Given the description of an element on the screen output the (x, y) to click on. 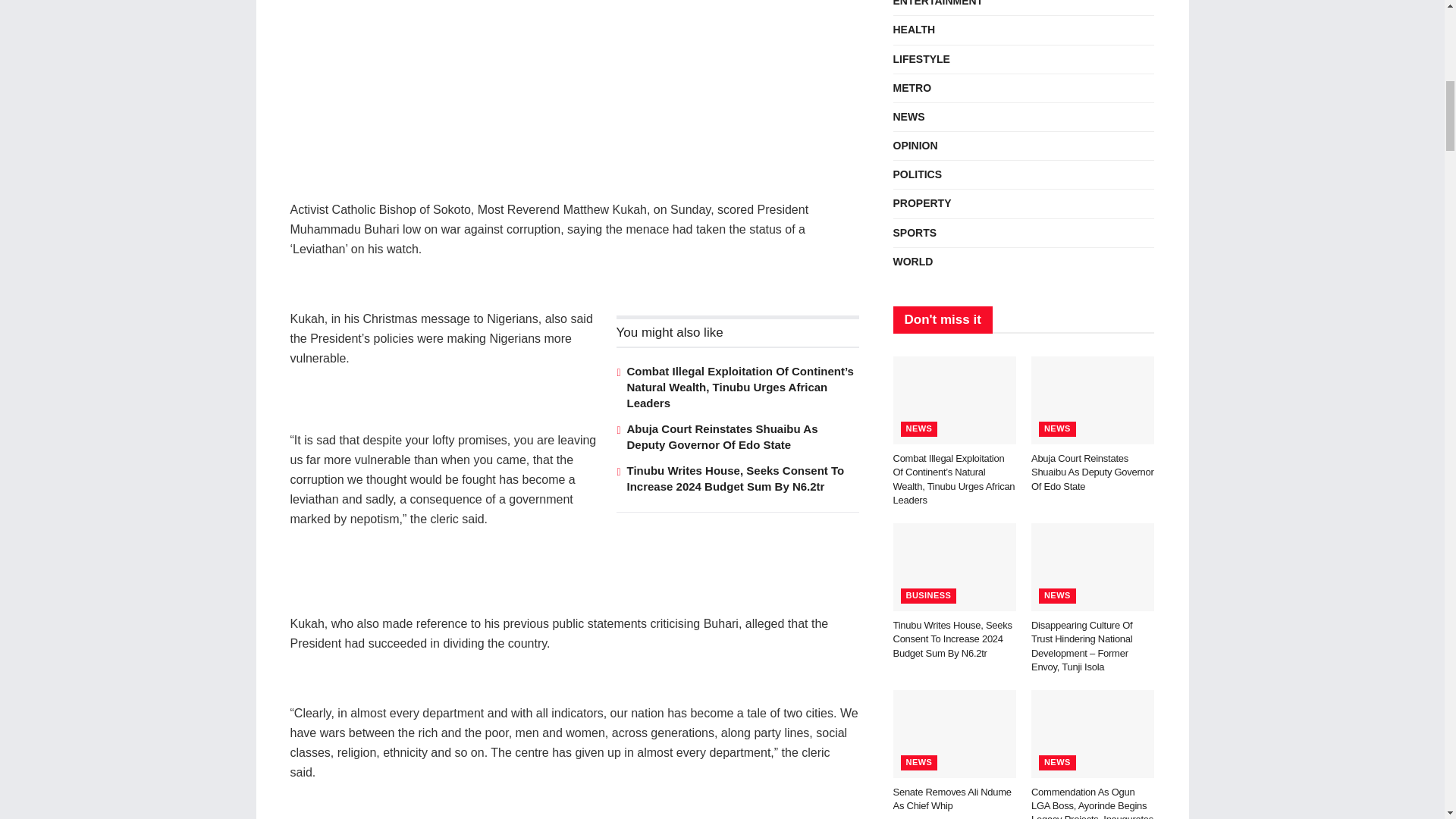
Advertisement (574, 99)
